Given the description of an element on the screen output the (x, y) to click on. 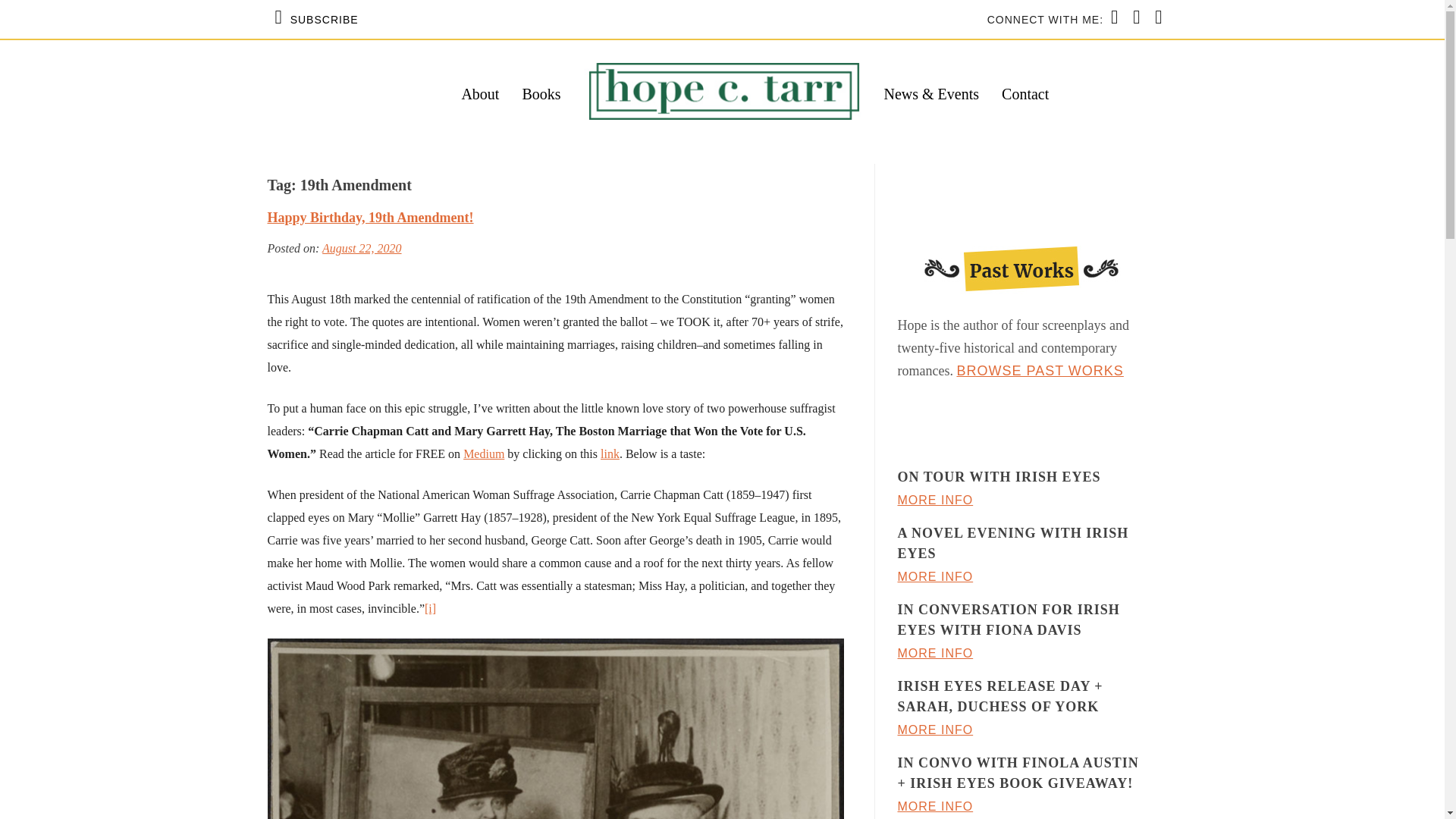
Books (541, 93)
August 22, 2020 (361, 247)
About (480, 93)
MORE INFO (936, 499)
BROWSE PAST WORKS (1039, 370)
Contact (1024, 93)
Medium (483, 453)
Happy Birthday, 19th Amendment! (369, 217)
SUBSCRIBE (316, 19)
link (609, 453)
